Given the description of an element on the screen output the (x, y) to click on. 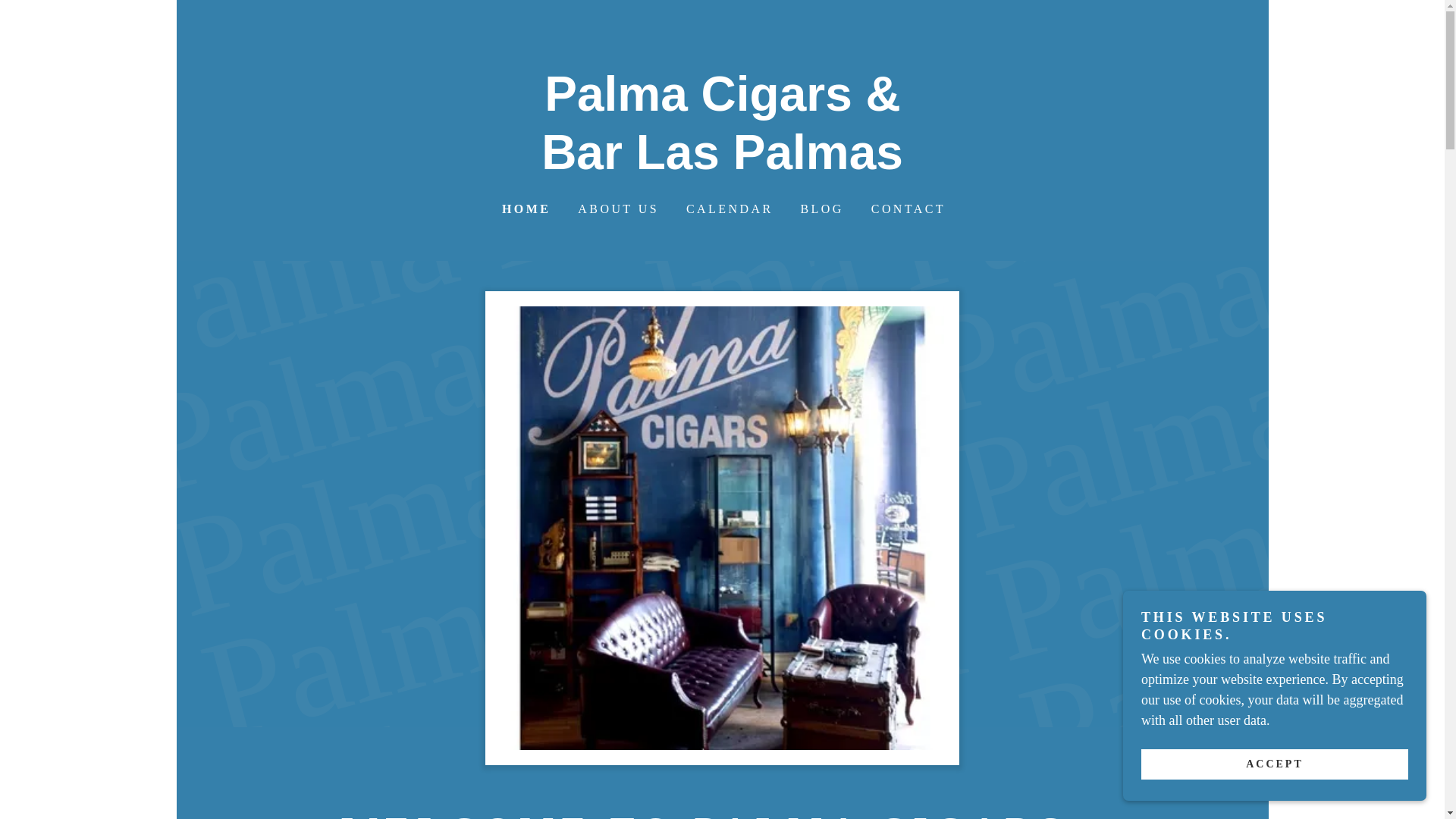
ABOUT US (616, 208)
ACCEPT (1274, 764)
CALENDAR (727, 208)
BLOG (820, 208)
HOME (524, 208)
CONTACT (906, 208)
